Given the description of an element on the screen output the (x, y) to click on. 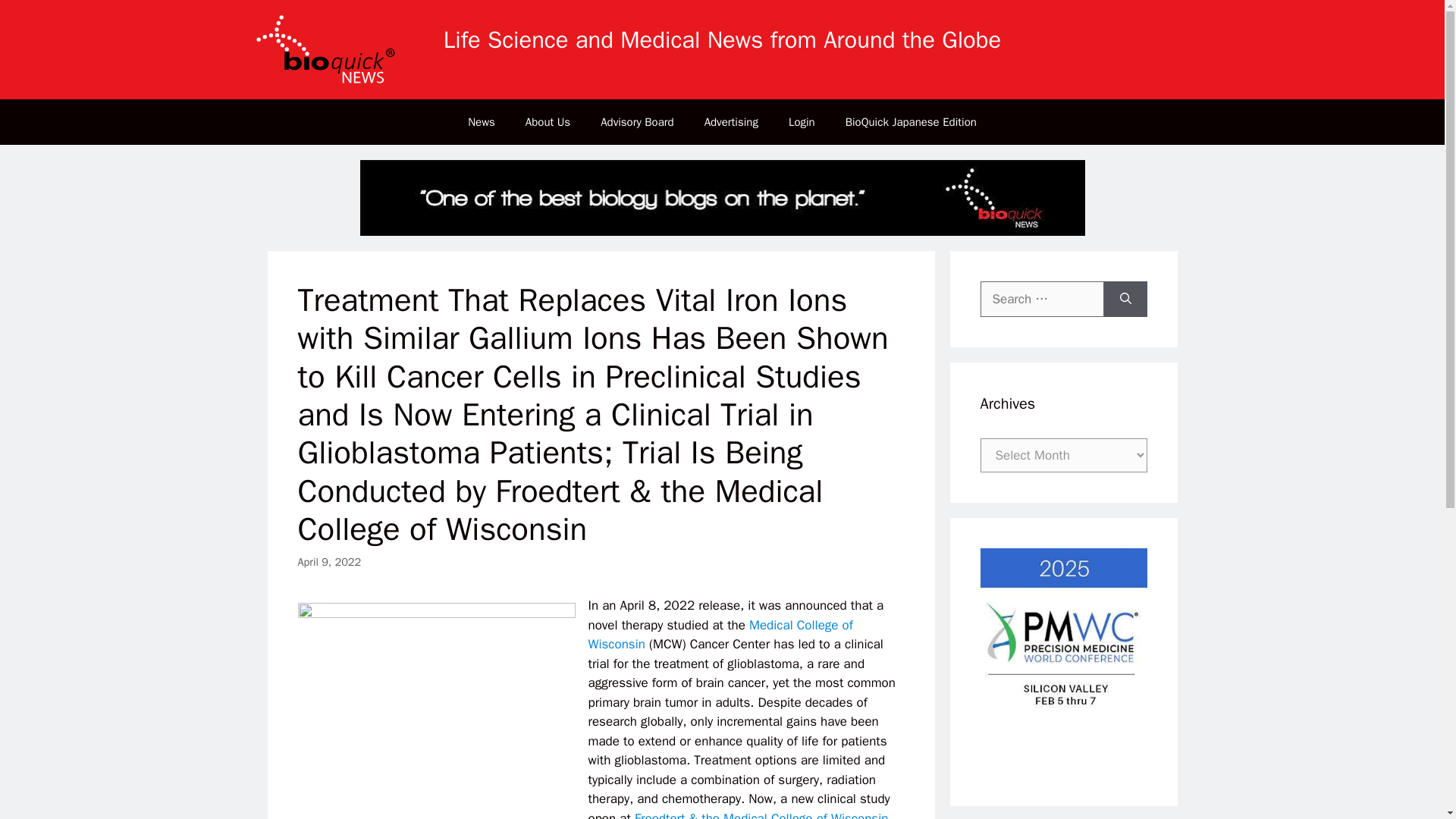
BioQuick Japanese Edition (910, 121)
Login (801, 121)
Advisory Board (636, 121)
Advertising (730, 121)
News (481, 121)
About Us (548, 121)
Medical College of Wisconsin (720, 634)
Search for: (1041, 299)
